Given the description of an element on the screen output the (x, y) to click on. 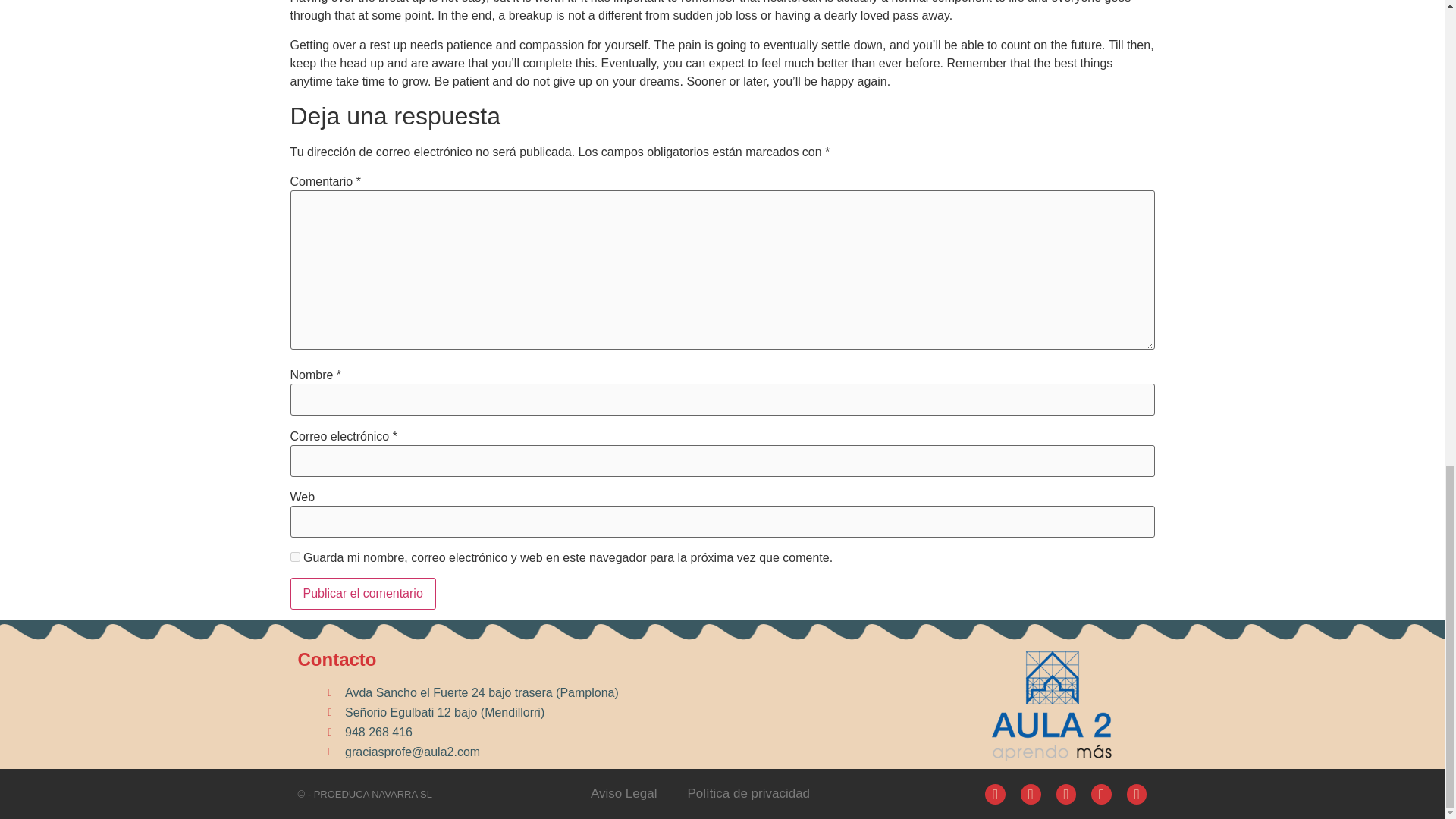
Aviso Legal (623, 793)
Publicar el comentario (362, 593)
yes (294, 556)
Publicar el comentario (362, 593)
